Given the description of an element on the screen output the (x, y) to click on. 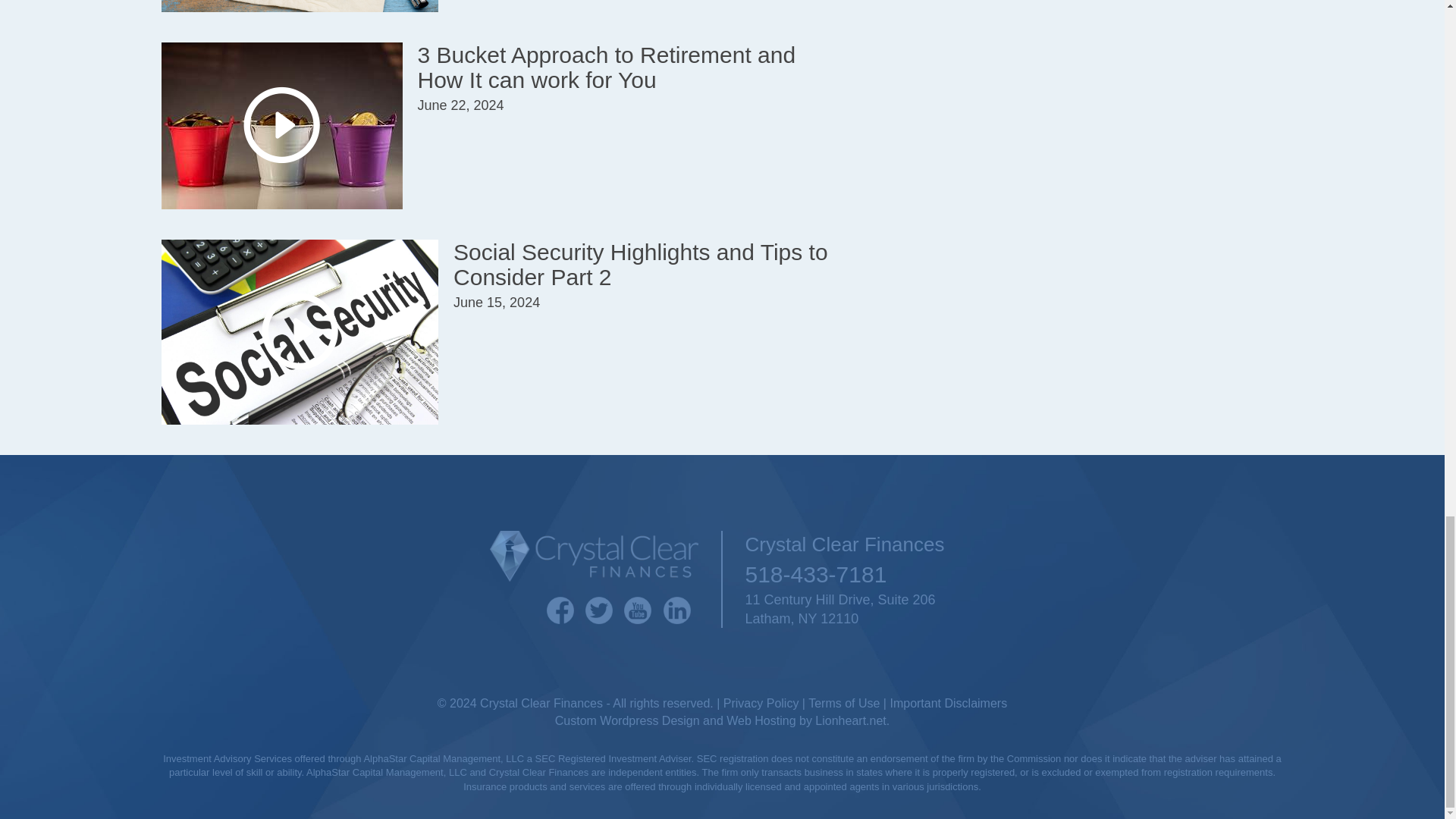
Custom Wordpress Design (627, 720)
Privacy Policy (761, 703)
Social Security Highlights and Tips to Consider Part 2 (640, 264)
Important Disclaimers (948, 703)
Lionheart.net (850, 720)
3 Bucket Approach to Retirement and How It can work for You (605, 67)
3 Bucket Approach to Retirement and How It can work for You (605, 67)
Web Hosting (760, 720)
Terms of Use (843, 703)
518-433-7181 (1013, 574)
Social Security Highlights and Tips to Consider Part 2 (640, 264)
